Given the description of an element on the screen output the (x, y) to click on. 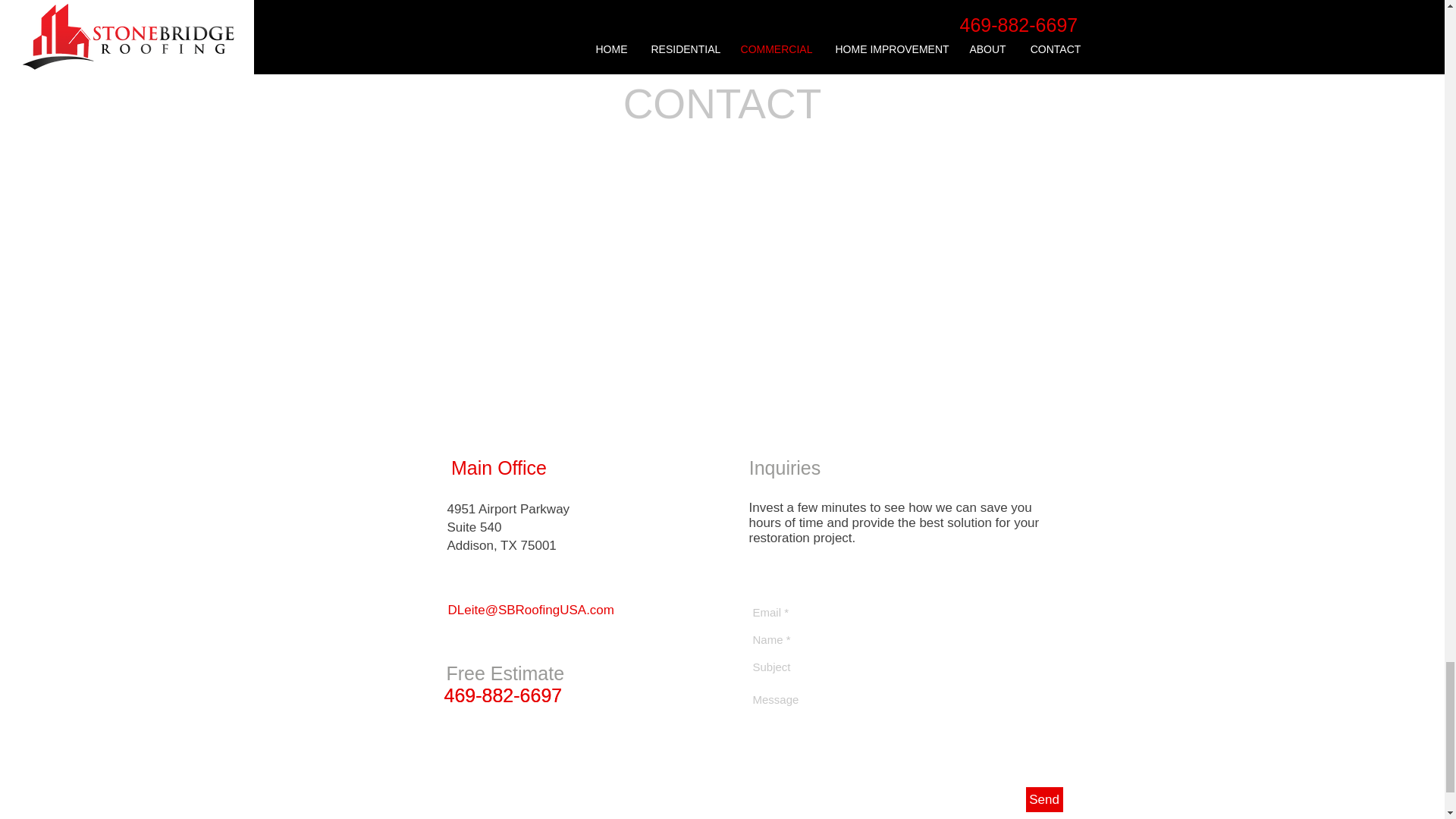
469-882-6697 (503, 694)
Send (1043, 799)
